Given the description of an element on the screen output the (x, y) to click on. 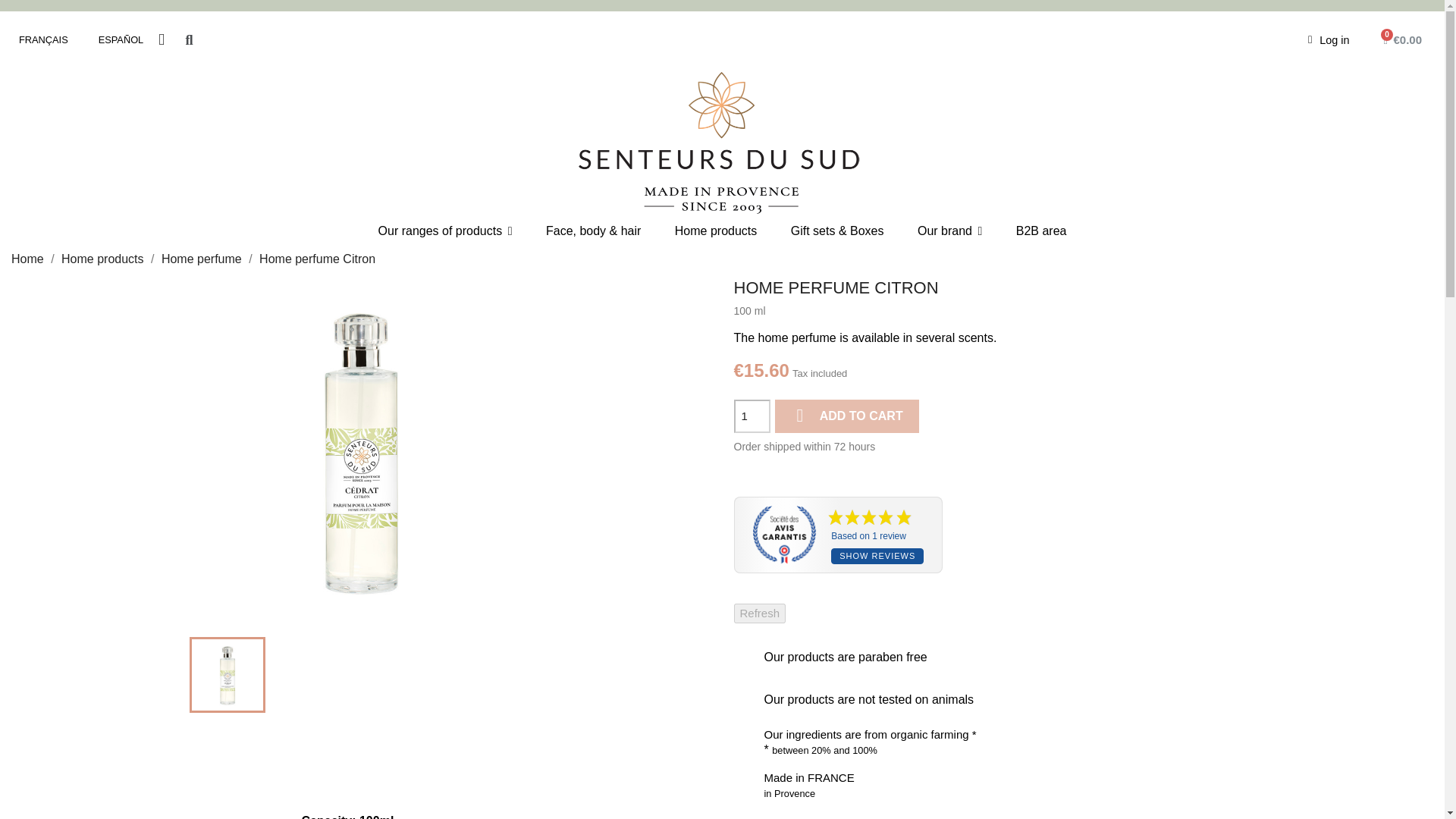
Home perfume (202, 257)
Our brand (949, 230)
Our ranges of products (444, 230)
Home products (104, 257)
1 (751, 416)
Log in (1328, 39)
Refresh (759, 613)
B2B area (1041, 230)
Home perfume Citron (317, 257)
Home (28, 257)
